Given the description of an element on the screen output the (x, y) to click on. 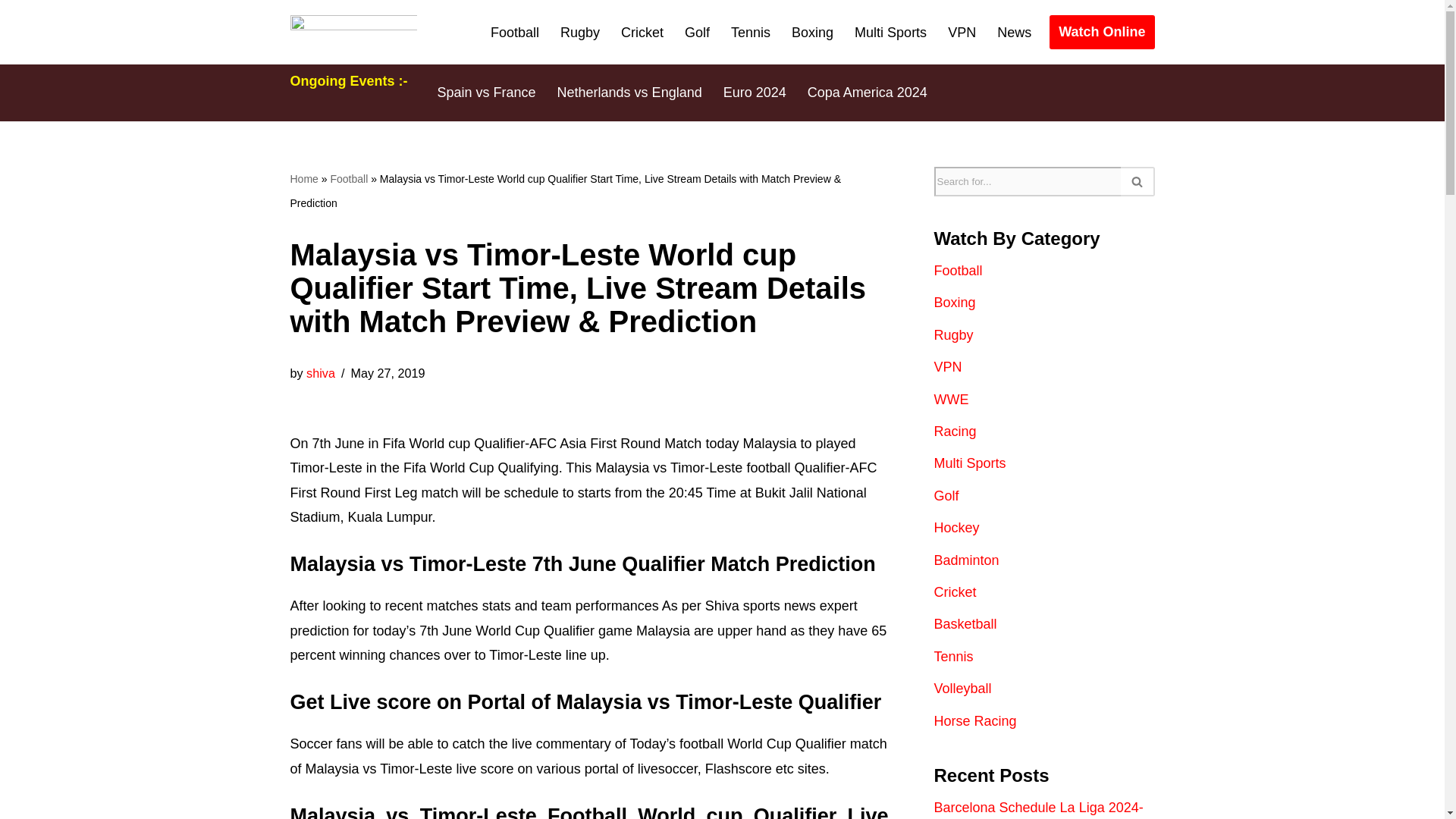
Watch Online (1101, 32)
Cricket (642, 32)
Football (349, 178)
Boxing (812, 32)
Football (514, 32)
Netherlands vs England (629, 92)
VPN (961, 32)
Golf (697, 32)
Posts by shiva (319, 373)
Tennis (750, 32)
Multi Sports (890, 32)
Skip to content (11, 31)
Spain vs France (485, 92)
shiva (319, 373)
Home (303, 178)
